Given the description of an element on the screen output the (x, y) to click on. 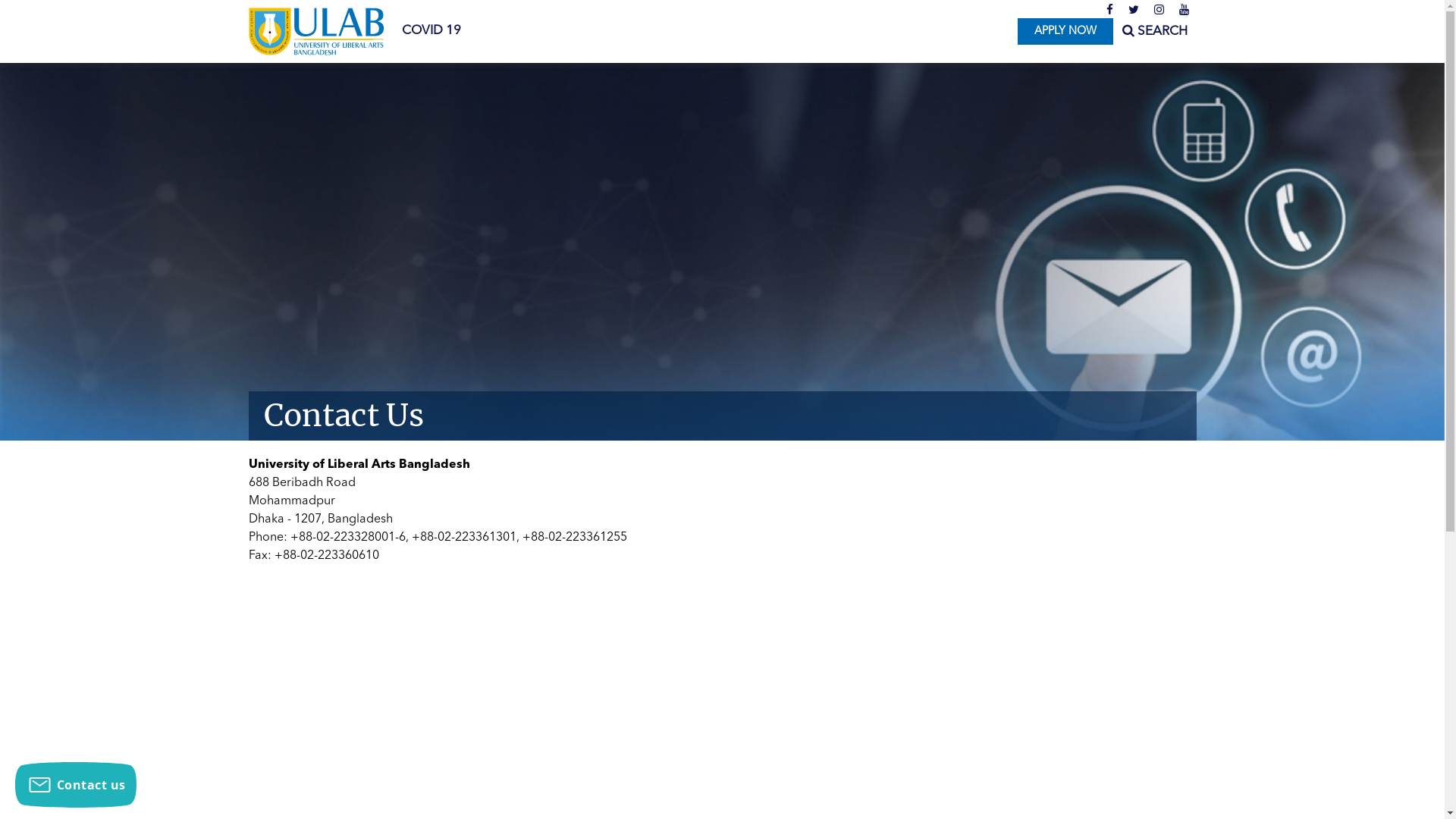
APPLY NOW Element type: text (1064, 31)
Contact us Element type: text (75, 784)
COVID 19 Element type: text (431, 30)
Skip to main content Element type: text (61, 0)
SEARCH Element type: text (1154, 31)
